Given the description of an element on the screen output the (x, y) to click on. 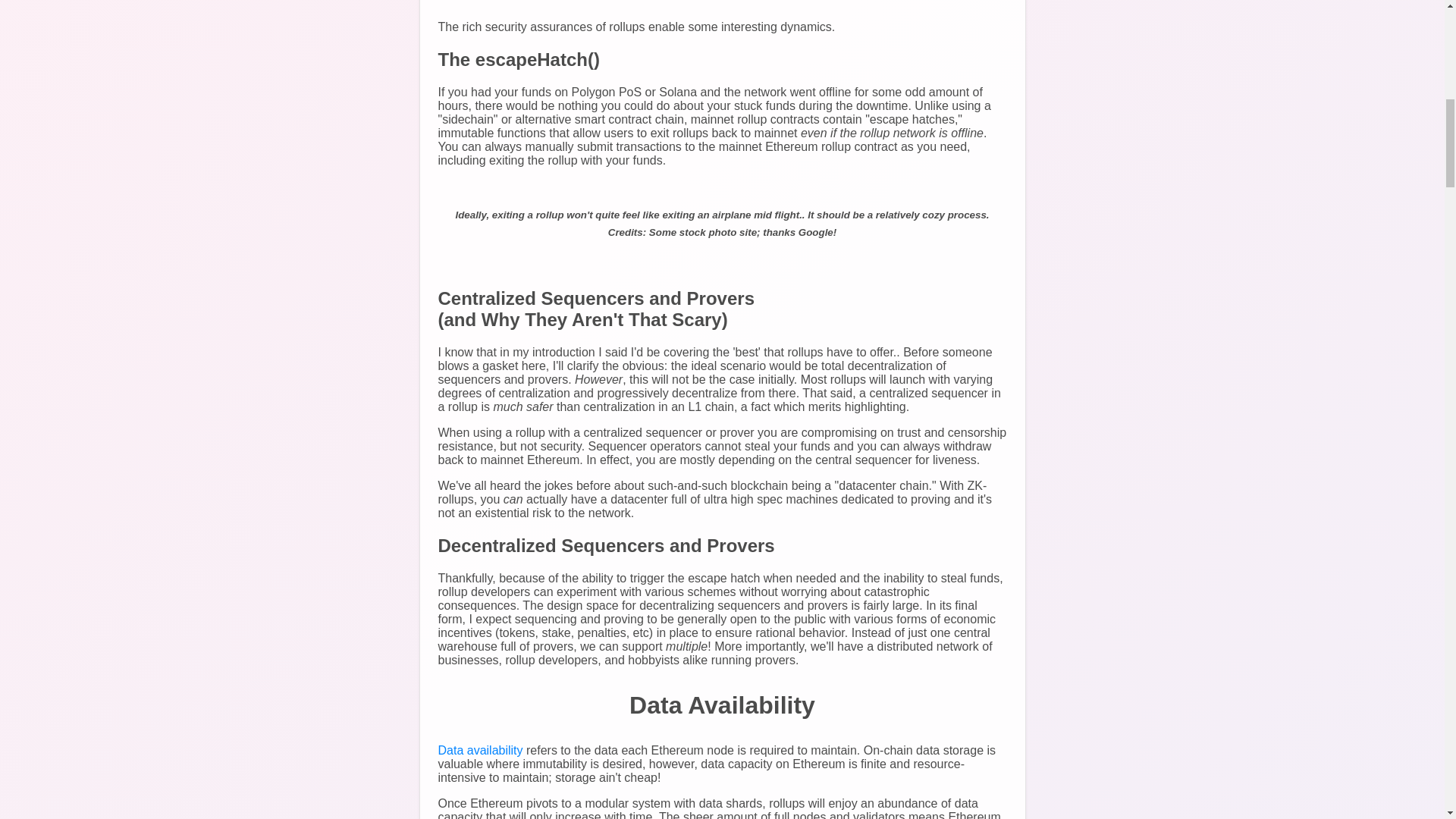
Data availability (480, 749)
